Given the description of an element on the screen output the (x, y) to click on. 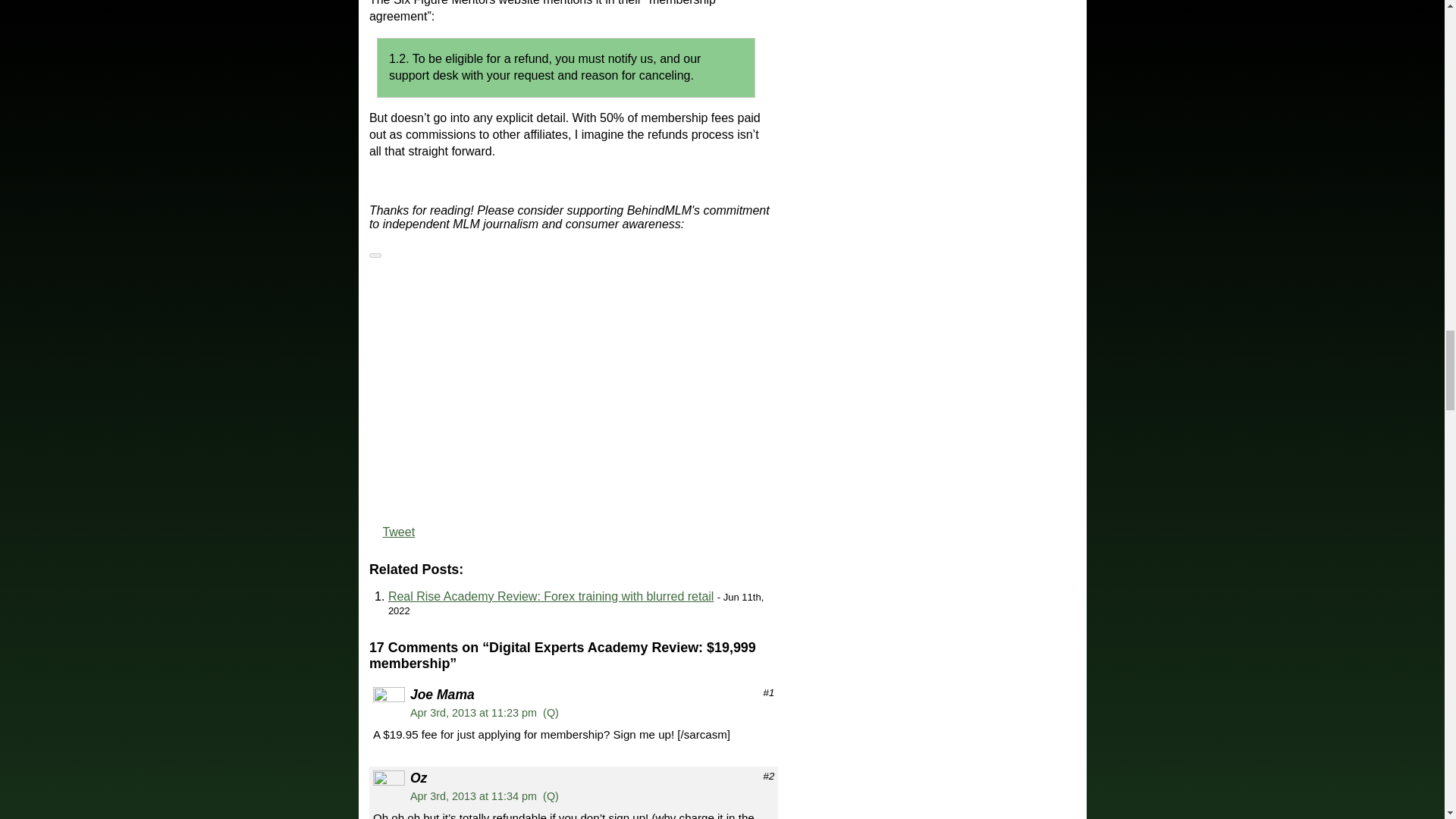
Tweet (397, 531)
Click here or select text to quote comment (551, 712)
Apr 3rd, 2013 at 11:23 pm (473, 712)
Click here or select text to quote comment (551, 796)
Apr 3rd, 2013 at 11:34 pm (473, 796)
Real Rise Academy Review: Forex training with blurred retail (551, 595)
